Given the description of an element on the screen output the (x, y) to click on. 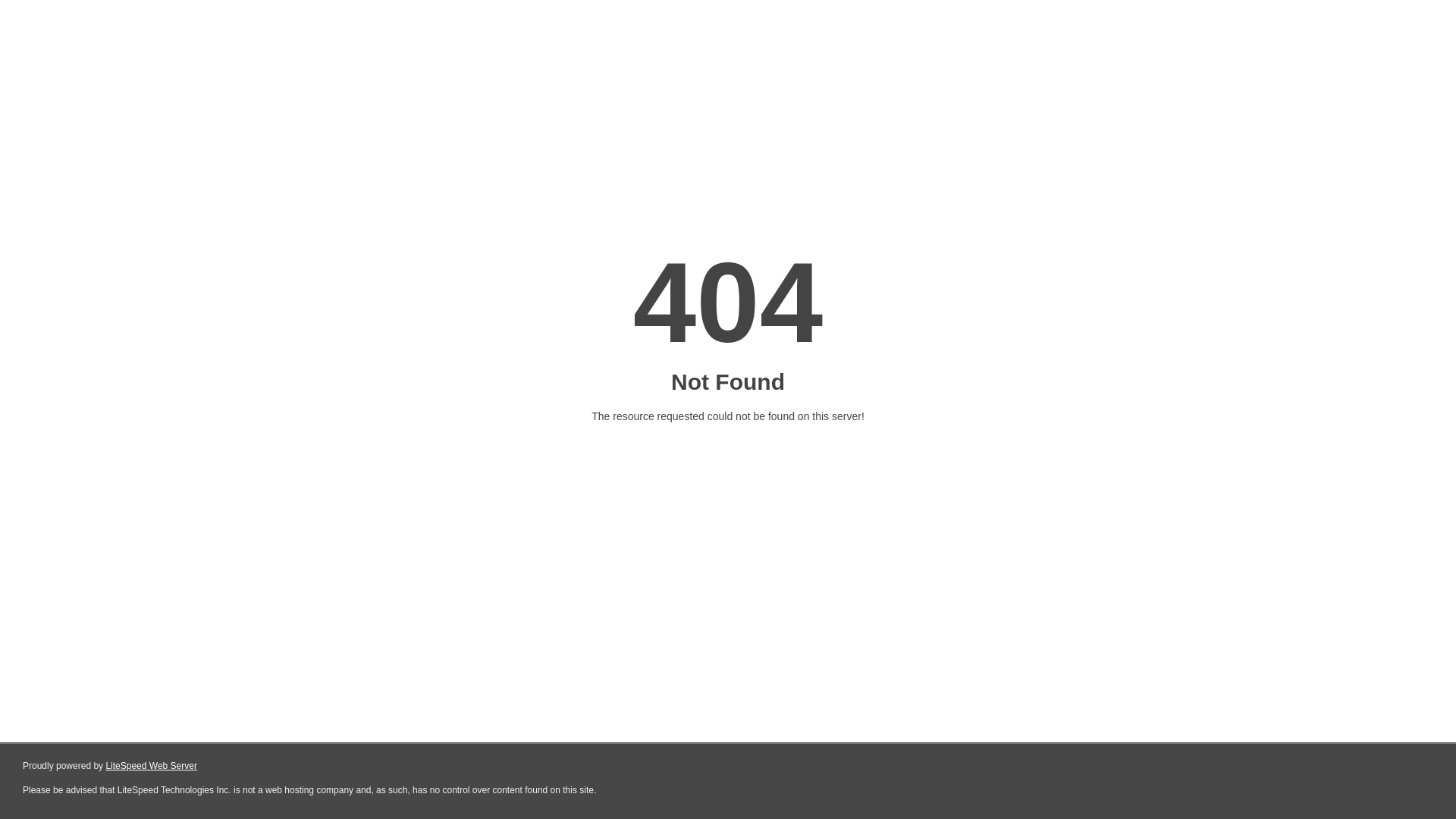
LiteSpeed Web Server Element type: text (151, 765)
